Given the description of an element on the screen output the (x, y) to click on. 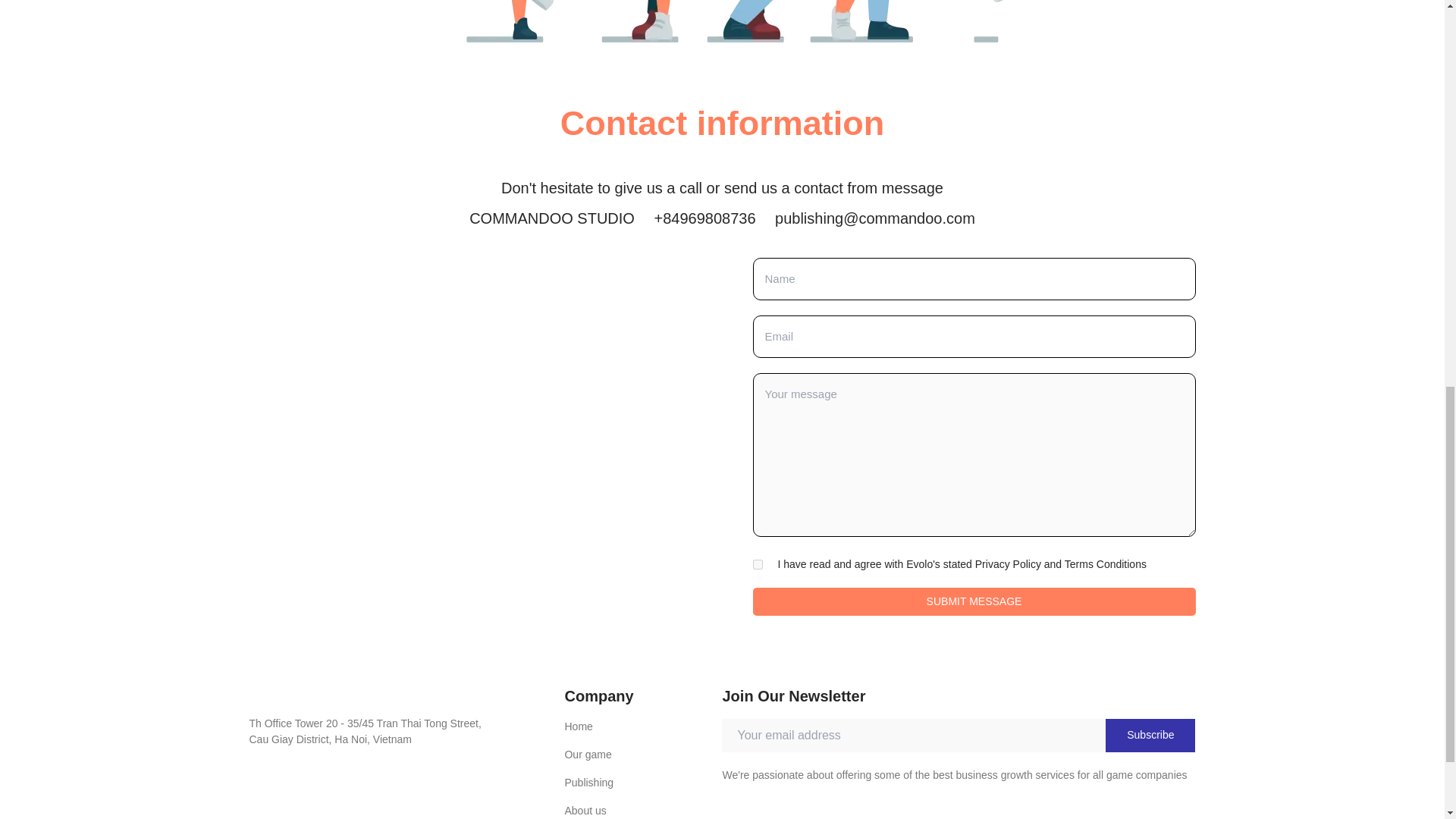
SUBMIT MESSAGE (973, 601)
Home (643, 726)
Publishing (643, 782)
Subscribe (1150, 735)
Our game (643, 754)
on (756, 564)
About us (643, 811)
